Given the description of an element on the screen output the (x, y) to click on. 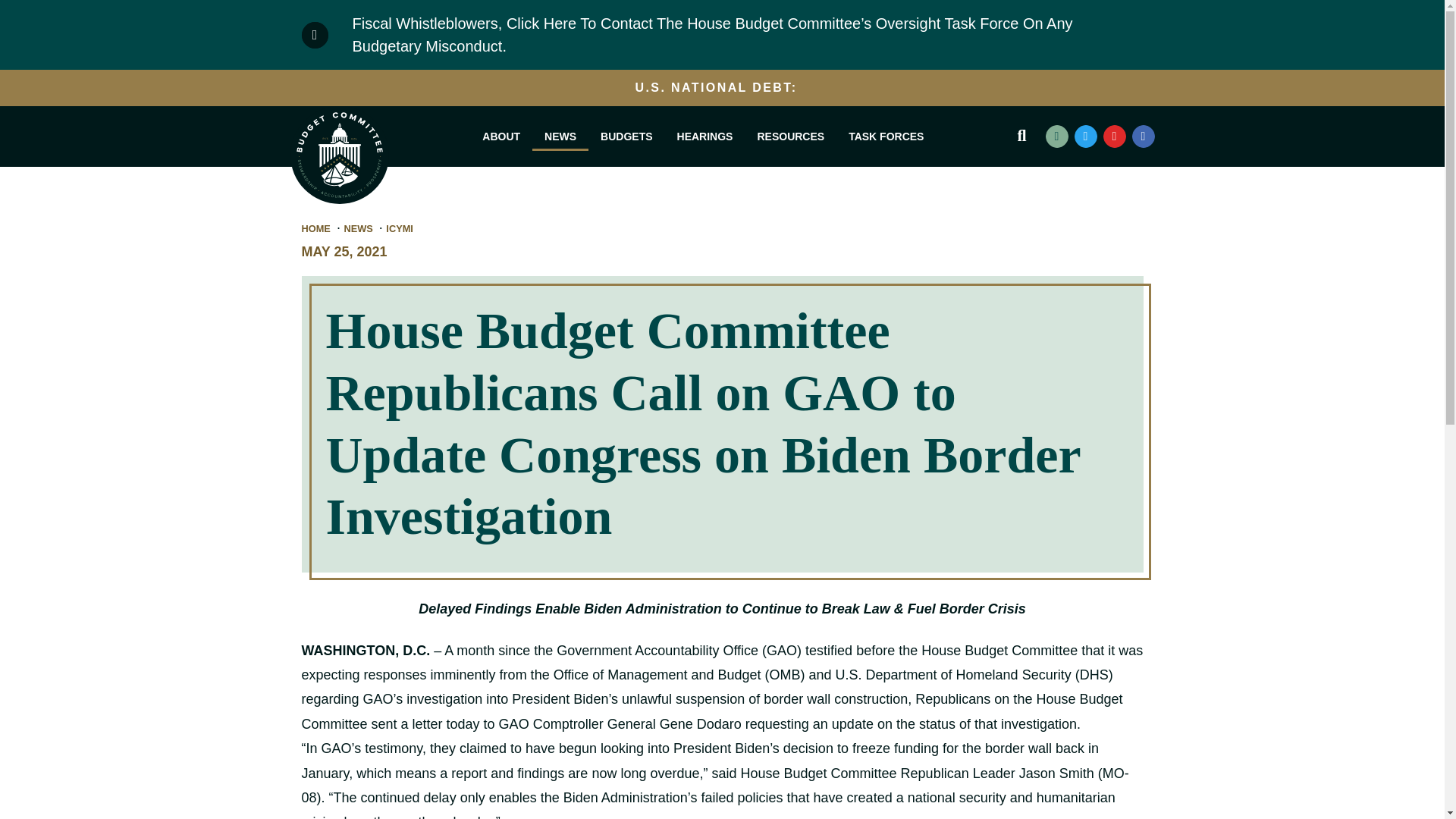
Header internal site logo (338, 154)
ABOUT (501, 136)
